Given the description of an element on the screen output the (x, y) to click on. 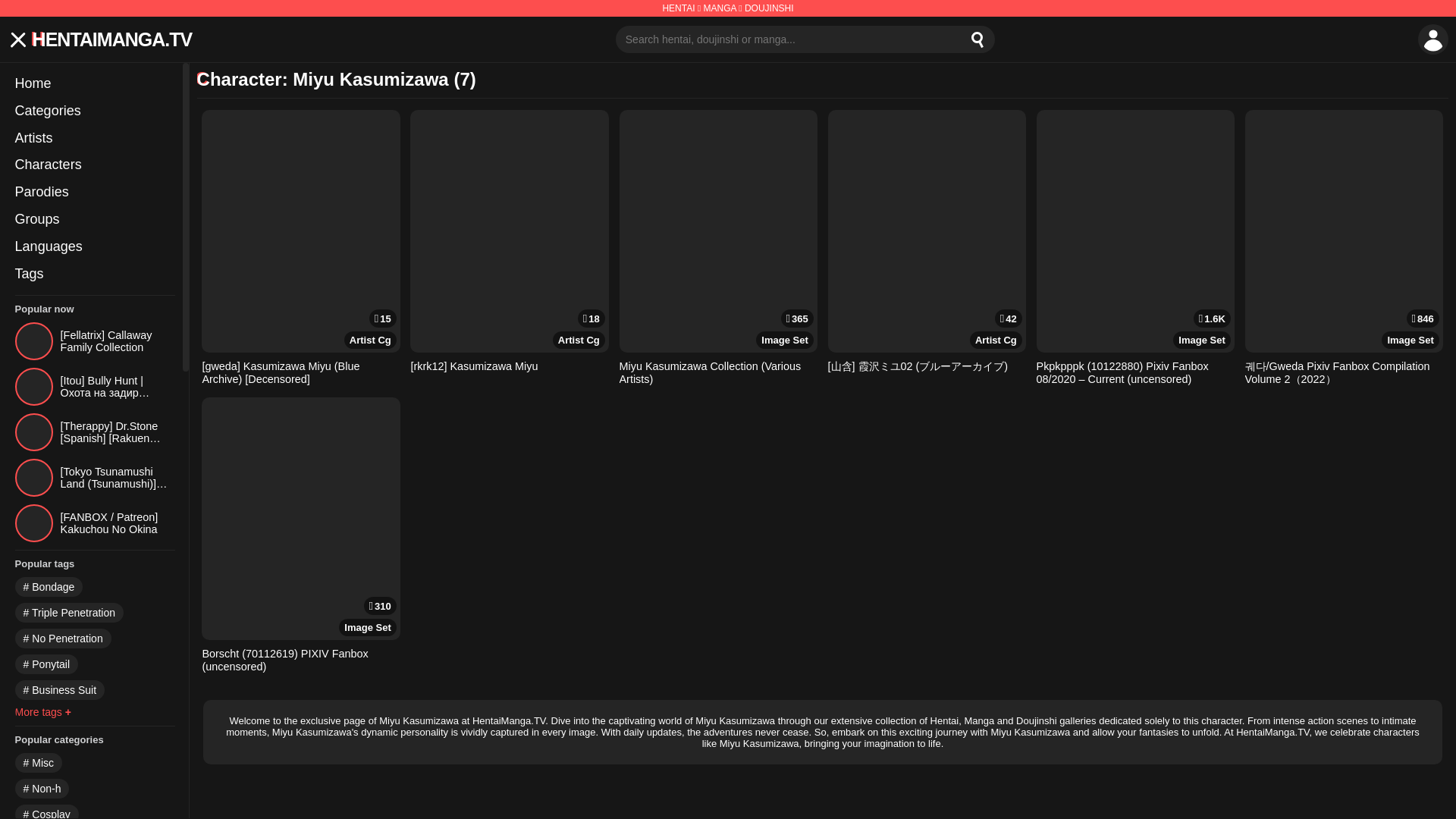
No Penetration (63, 638)
Artists (94, 138)
Home (94, 83)
Categories (94, 111)
More tags (42, 711)
Home (94, 83)
Languages (94, 247)
Languages (94, 247)
Categories (94, 111)
Groups (94, 219)
More tags (42, 711)
Bondage (48, 587)
Business Suit (59, 690)
No Penetration (63, 638)
Bondage (48, 587)
